Given the description of an element on the screen output the (x, y) to click on. 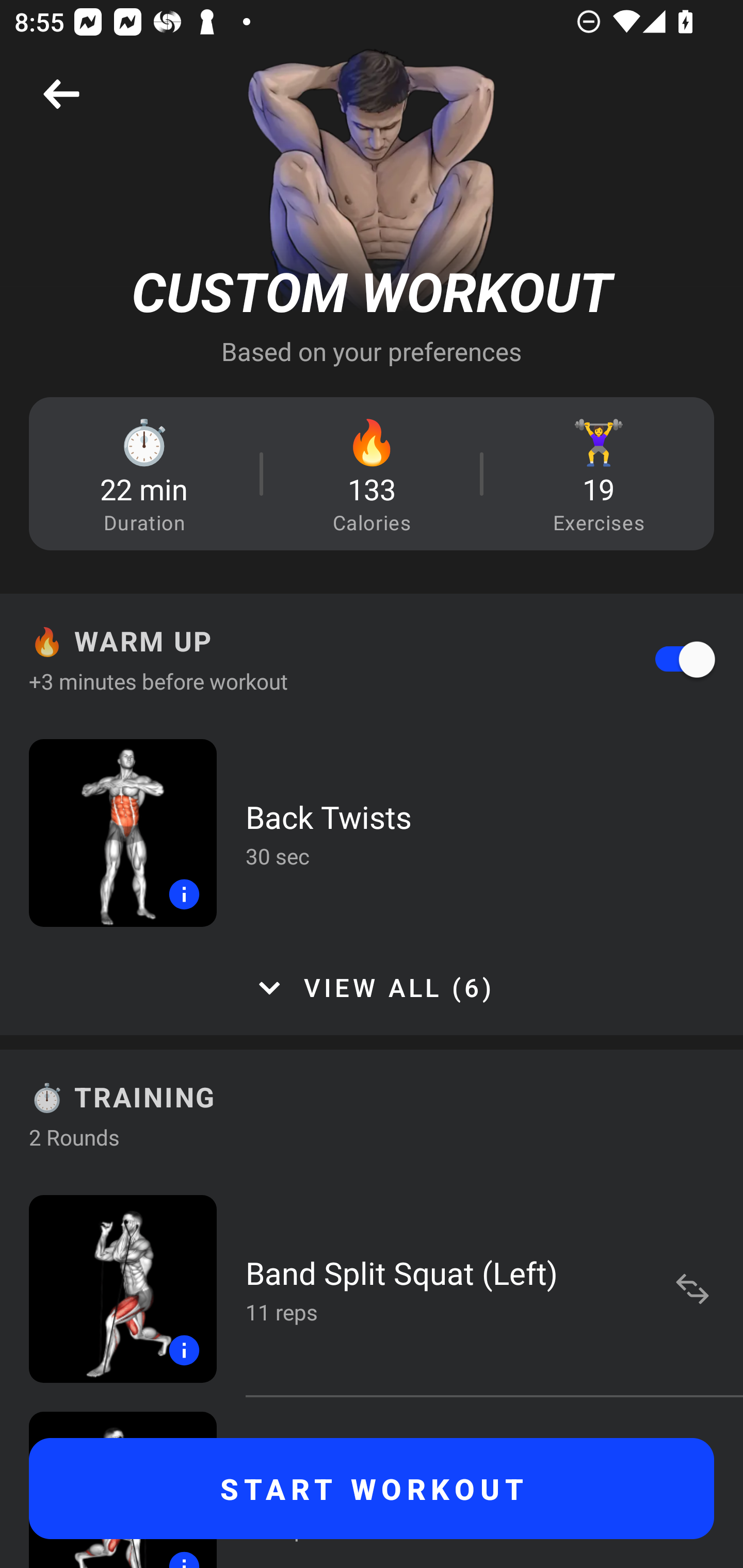
Back Twists 30 sec (371, 832)
VIEW ALL (6) (371, 987)
Band Split Squat (Left) 11 reps (371, 1288)
Band Split Squat (Right) 11 reps (371, 1482)
START WORKOUT (371, 1488)
